Given the description of an element on the screen output the (x, y) to click on. 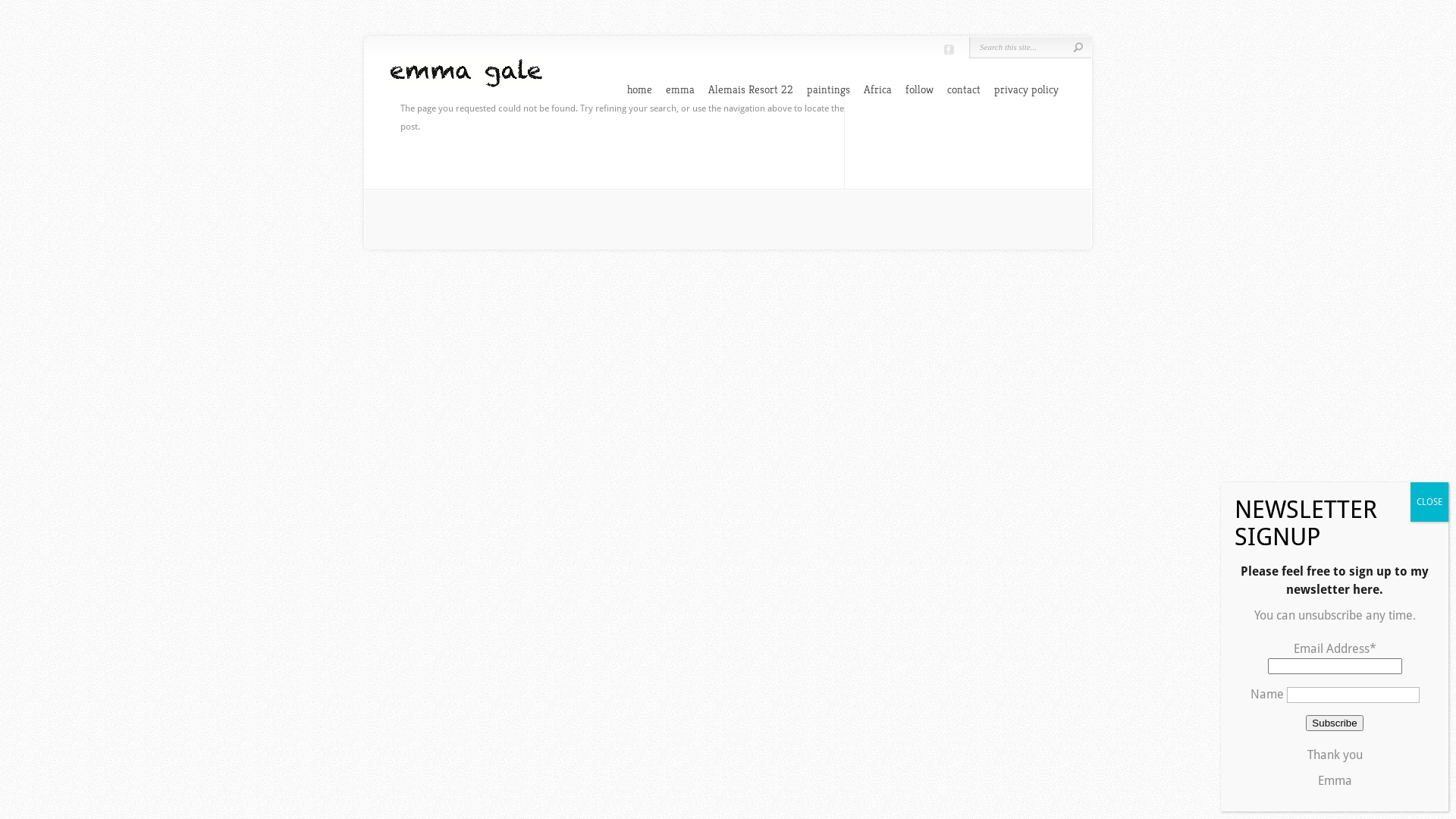
home Element type: text (639, 89)
CLOSE Element type: text (1429, 501)
Africa Element type: text (877, 89)
Subscribe Element type: text (1333, 723)
contact Element type: text (963, 89)
emma Element type: text (679, 89)
privacy policy Element type: text (1026, 89)
paintings Element type: text (828, 89)
follow Element type: text (919, 89)
Alemais Resort 22 Element type: text (750, 89)
